Given the description of an element on the screen output the (x, y) to click on. 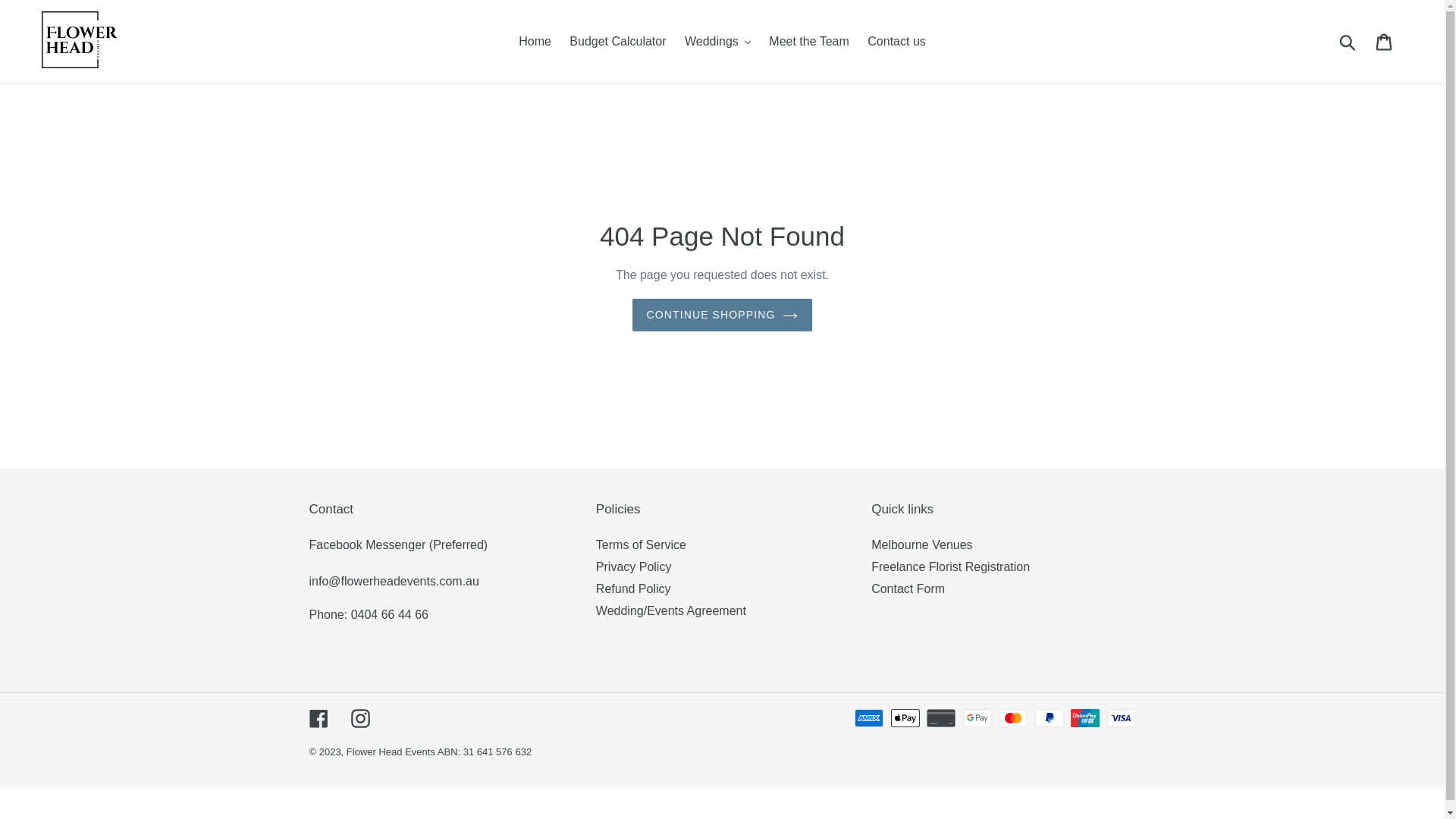
Privacy Policy Element type: text (633, 566)
Melbourne Venues Element type: text (921, 544)
Flower Head Events Element type: text (391, 751)
Submit Element type: text (1348, 41)
ABN: 31 641 576 632 Element type: text (484, 751)
Cart Element type: text (1384, 41)
Home Element type: text (534, 41)
Instagram Element type: text (359, 717)
Terms of Service Element type: text (641, 544)
CONTINUE SHOPPING Element type: text (722, 314)
Budget Calculator Element type: text (617, 41)
Facebook Element type: text (318, 717)
Contact us Element type: text (895, 41)
Freelance Florist Registration Element type: text (950, 566)
Refund Policy Element type: text (633, 588)
Contact Form Element type: text (907, 588)
Facebook Messenger (Preferred) Element type: text (398, 544)
Meet the Team Element type: text (808, 41)
Wedding/Events Agreement Element type: text (671, 610)
